Given the description of an element on the screen output the (x, y) to click on. 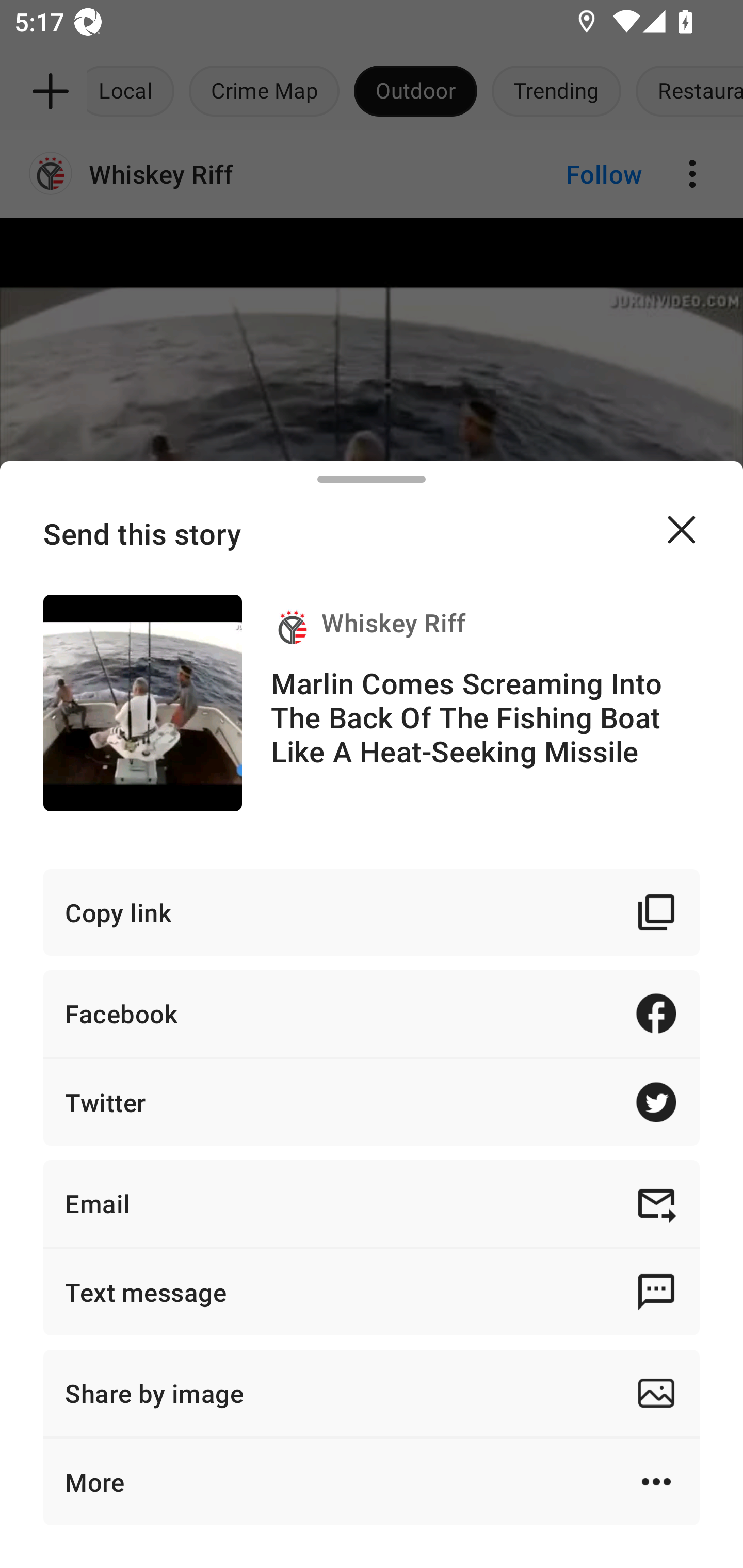
Copy link (371, 912)
Facebook (371, 1013)
Twitter (371, 1102)
Email (371, 1203)
Text message (371, 1291)
Share by image (371, 1393)
More (371, 1481)
